Given the description of an element on the screen output the (x, y) to click on. 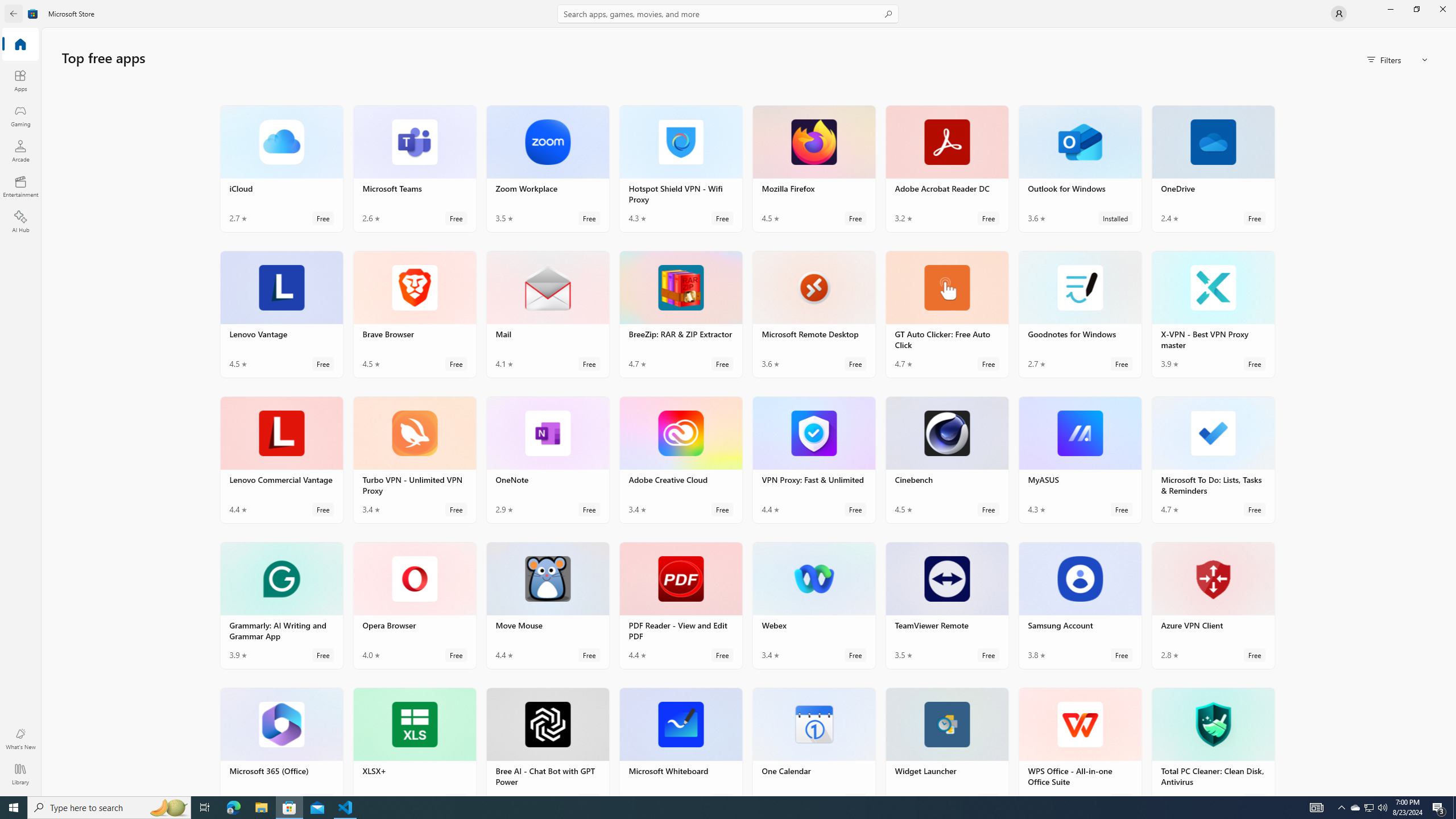
Mail. Average rating of 4.1 out of five stars. Free   (548, 313)
Back (13, 13)
iCloud. Average rating of 2.7 out of five stars. Free   (281, 167)
Filters (1397, 59)
